Given the description of an element on the screen output the (x, y) to click on. 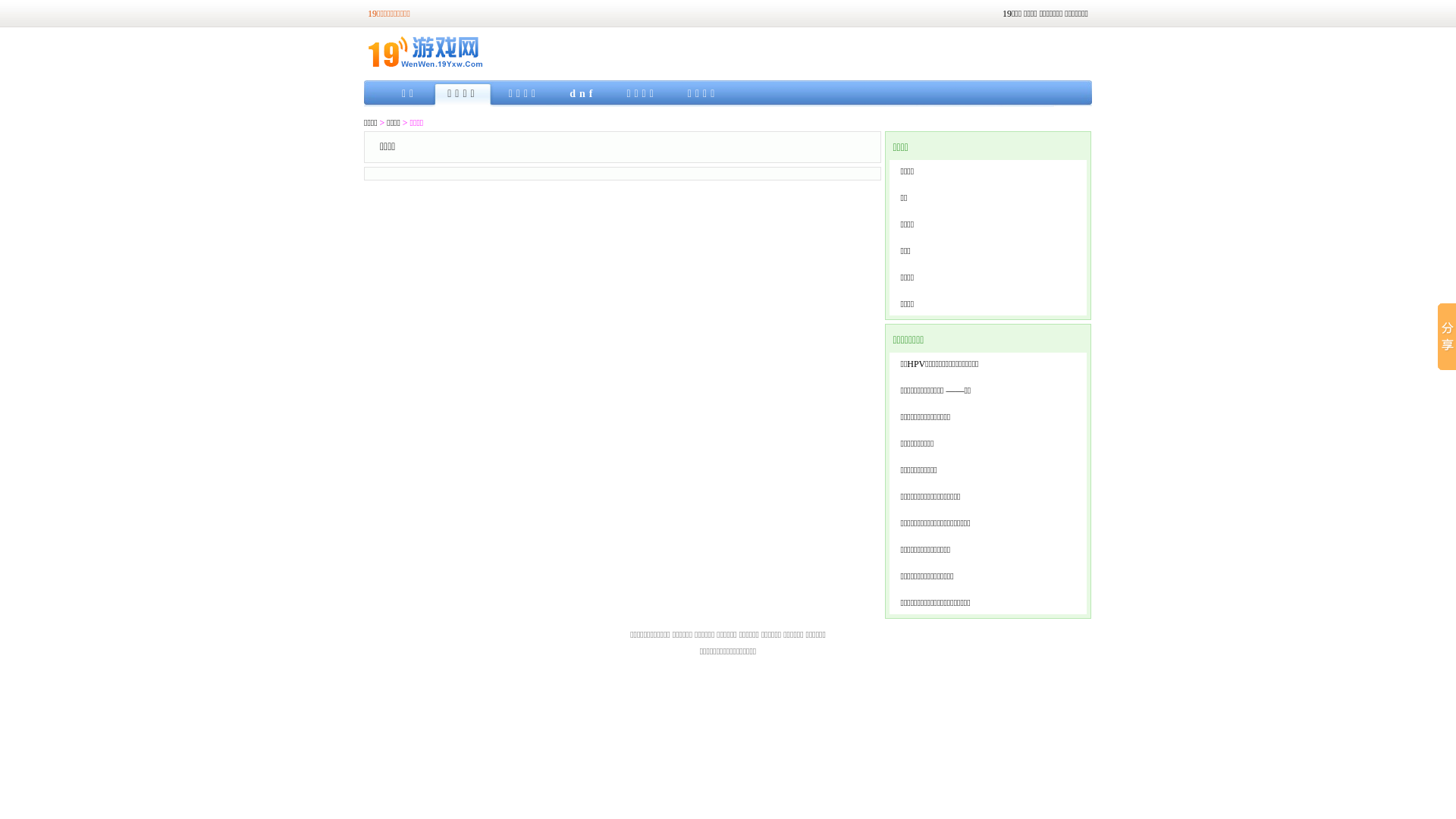
dnf Element type: text (582, 93)
